Given the description of an element on the screen output the (x, y) to click on. 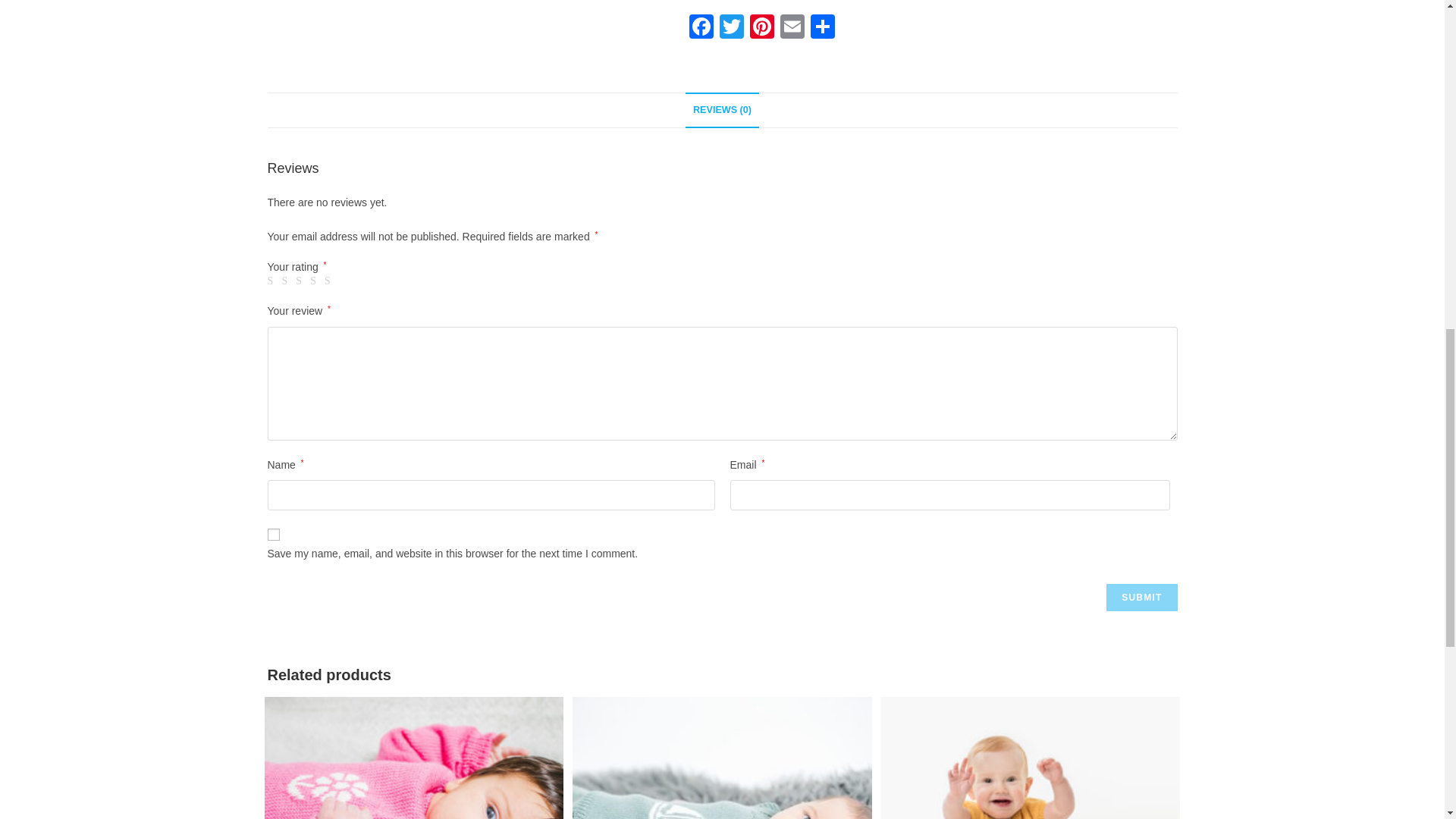
Facebook (700, 28)
Submit (1141, 596)
Email (791, 28)
Twitter (730, 28)
Pinterest (760, 28)
yes (272, 534)
